Given the description of an element on the screen output the (x, y) to click on. 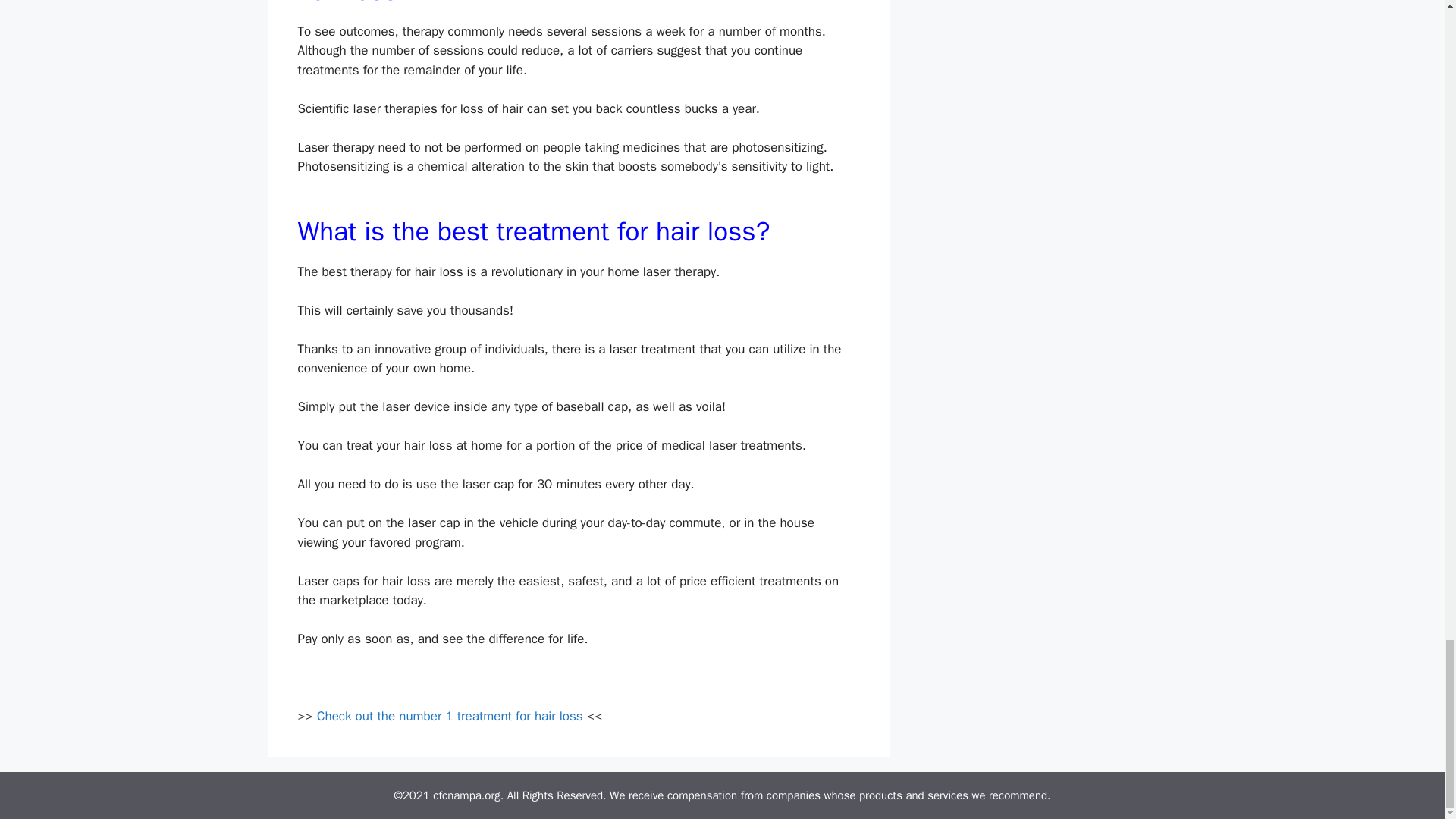
Check out the number 1 treatment for hair loss (450, 715)
